Given the description of an element on the screen output the (x, y) to click on. 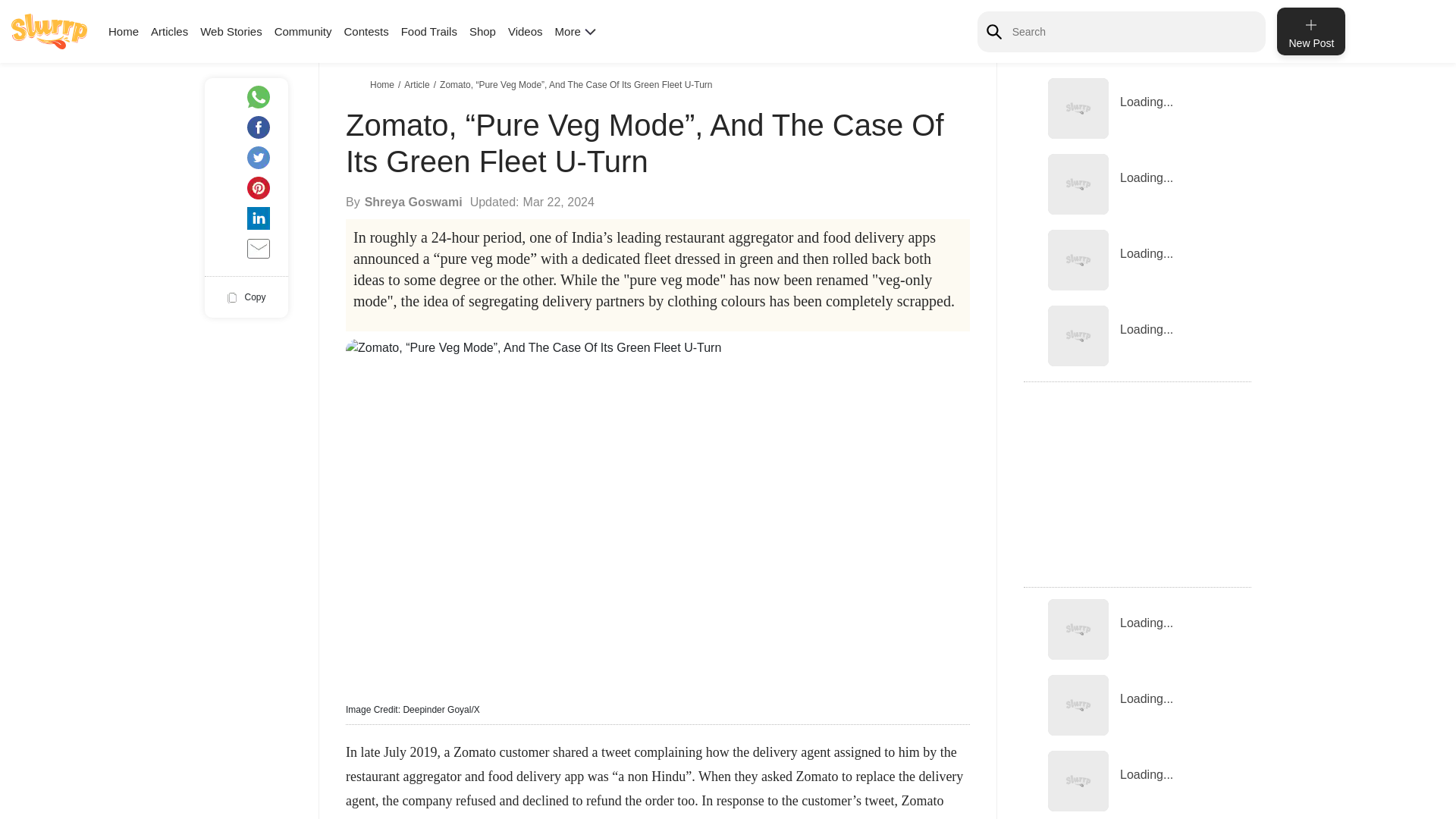
Articles (169, 31)
Videos (525, 31)
Home (122, 31)
Community (303, 31)
Web Stories (231, 31)
Contests (365, 31)
Home (383, 84)
Shop (482, 31)
New Post (1310, 31)
Food Trails (429, 31)
